Given the description of an element on the screen output the (x, y) to click on. 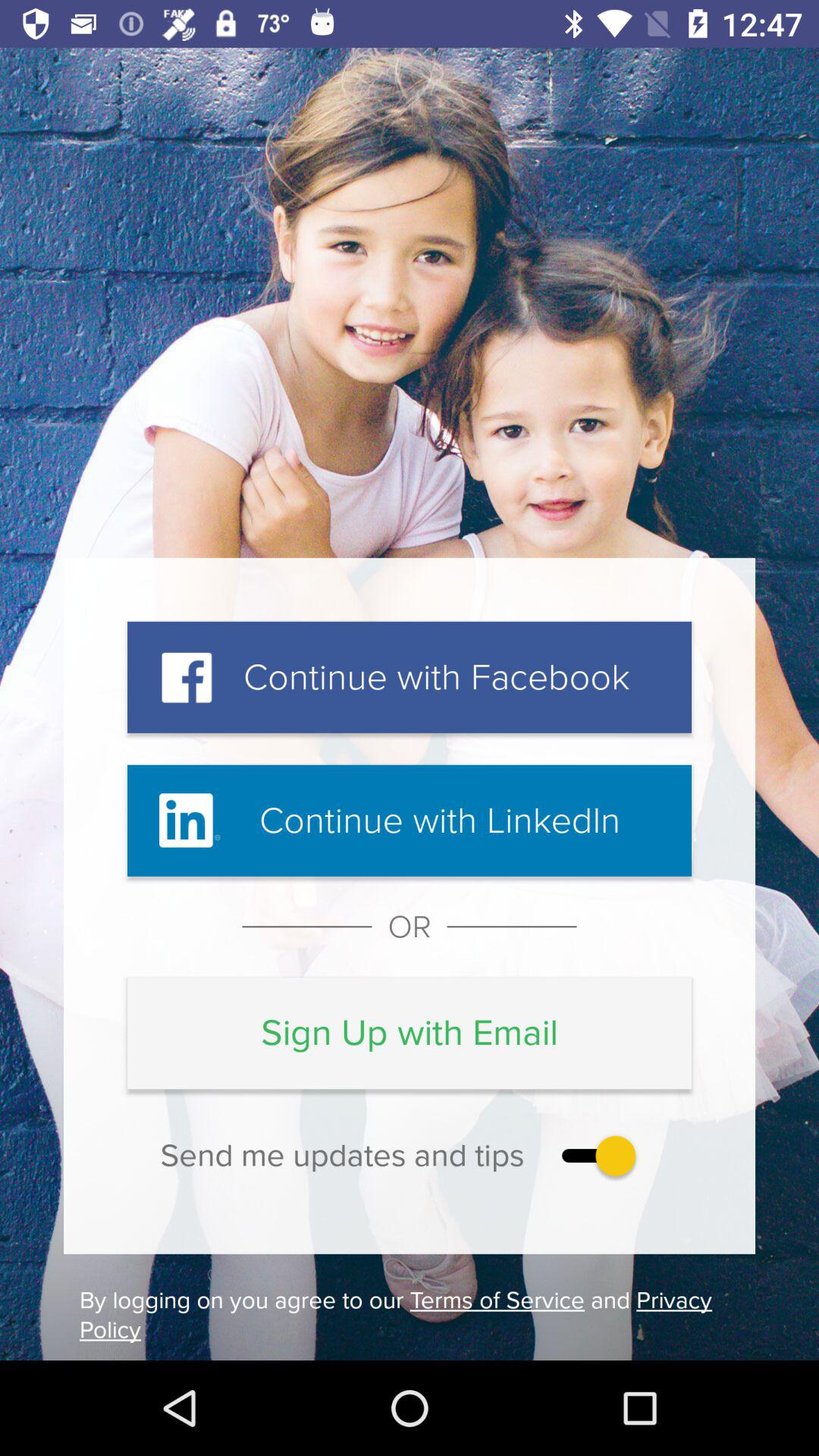
click to enable the notification (595, 1155)
